Given the description of an element on the screen output the (x, y) to click on. 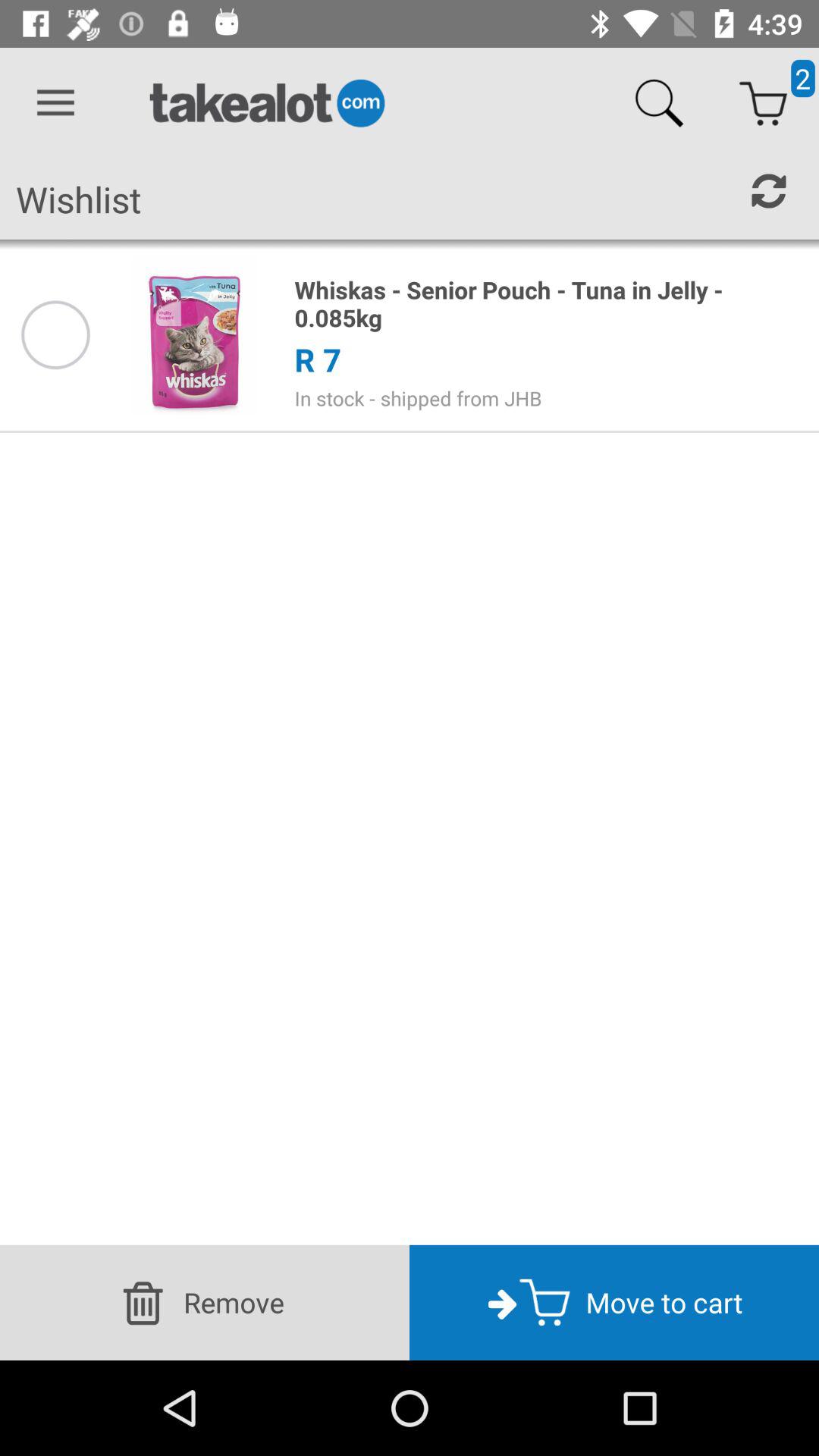
launch item to the left of the whiskas senior pouch icon (194, 334)
